Given the description of an element on the screen output the (x, y) to click on. 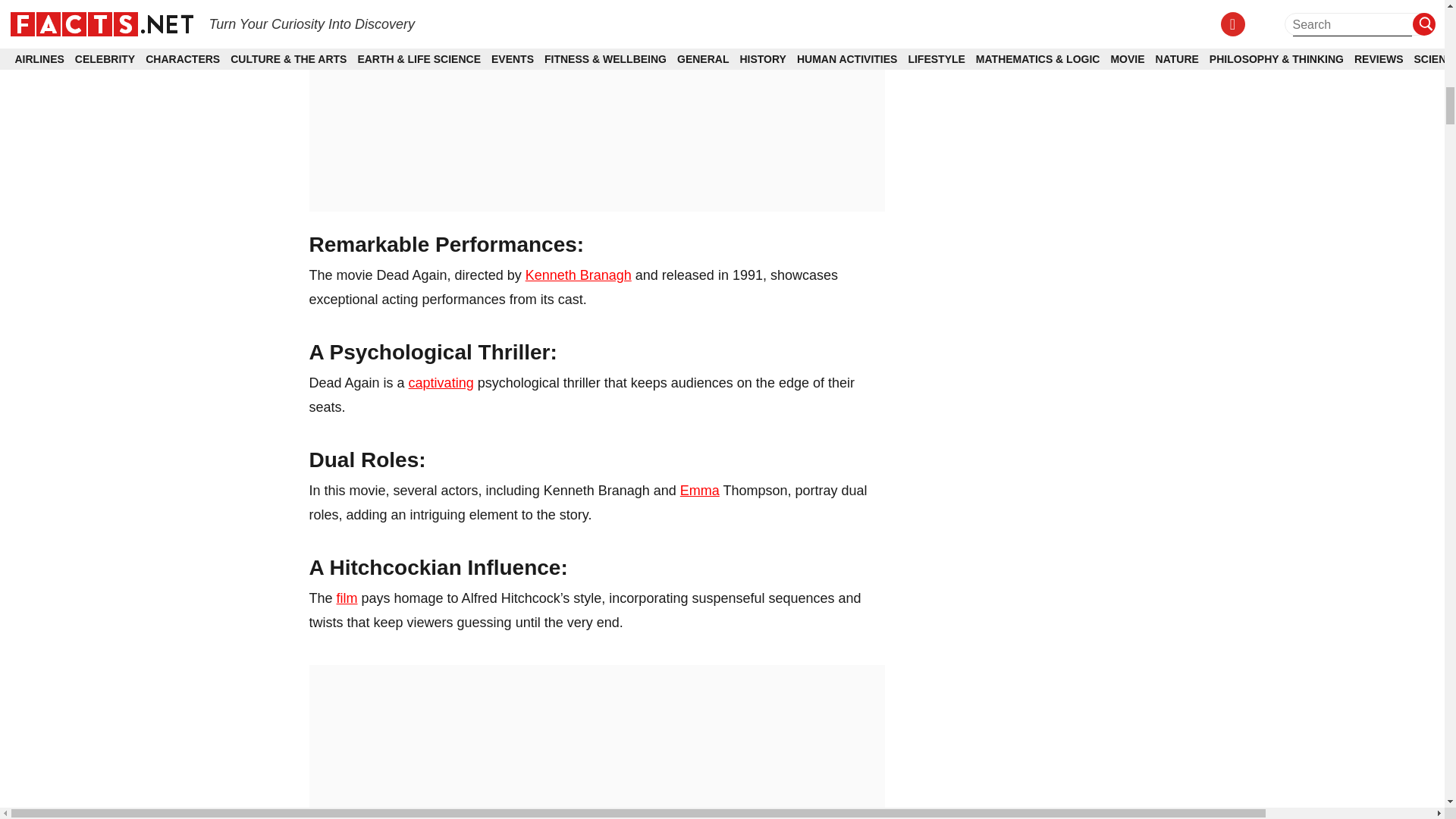
Emma (699, 490)
captivating (441, 382)
film (347, 598)
Kenneth Branagh (578, 274)
